Given the description of an element on the screen output the (x, y) to click on. 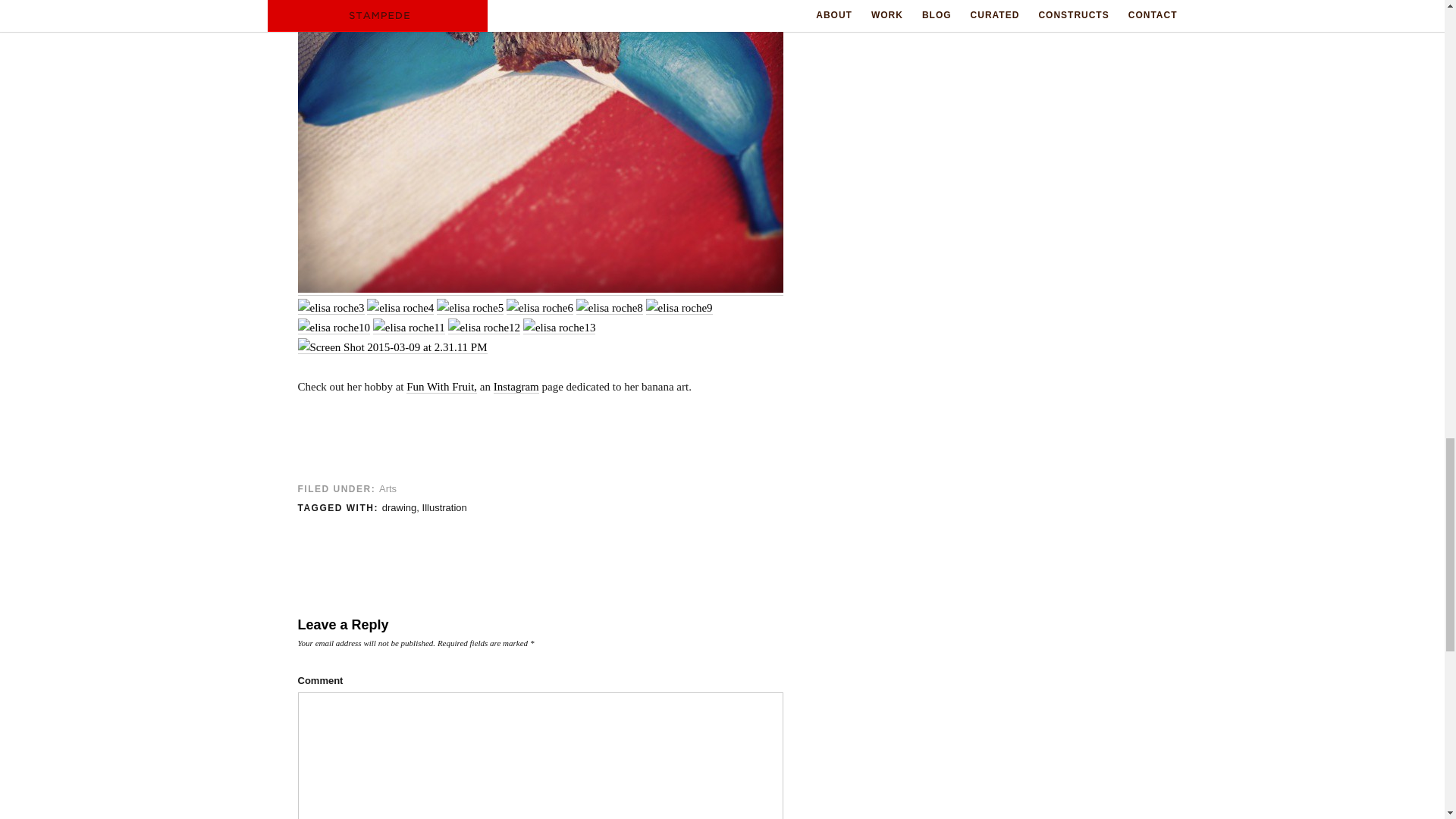
drawing (398, 507)
Instagram (515, 386)
Fun With Fruit, (441, 386)
Illustration (444, 507)
Arts (387, 488)
